Given the description of an element on the screen output the (x, y) to click on. 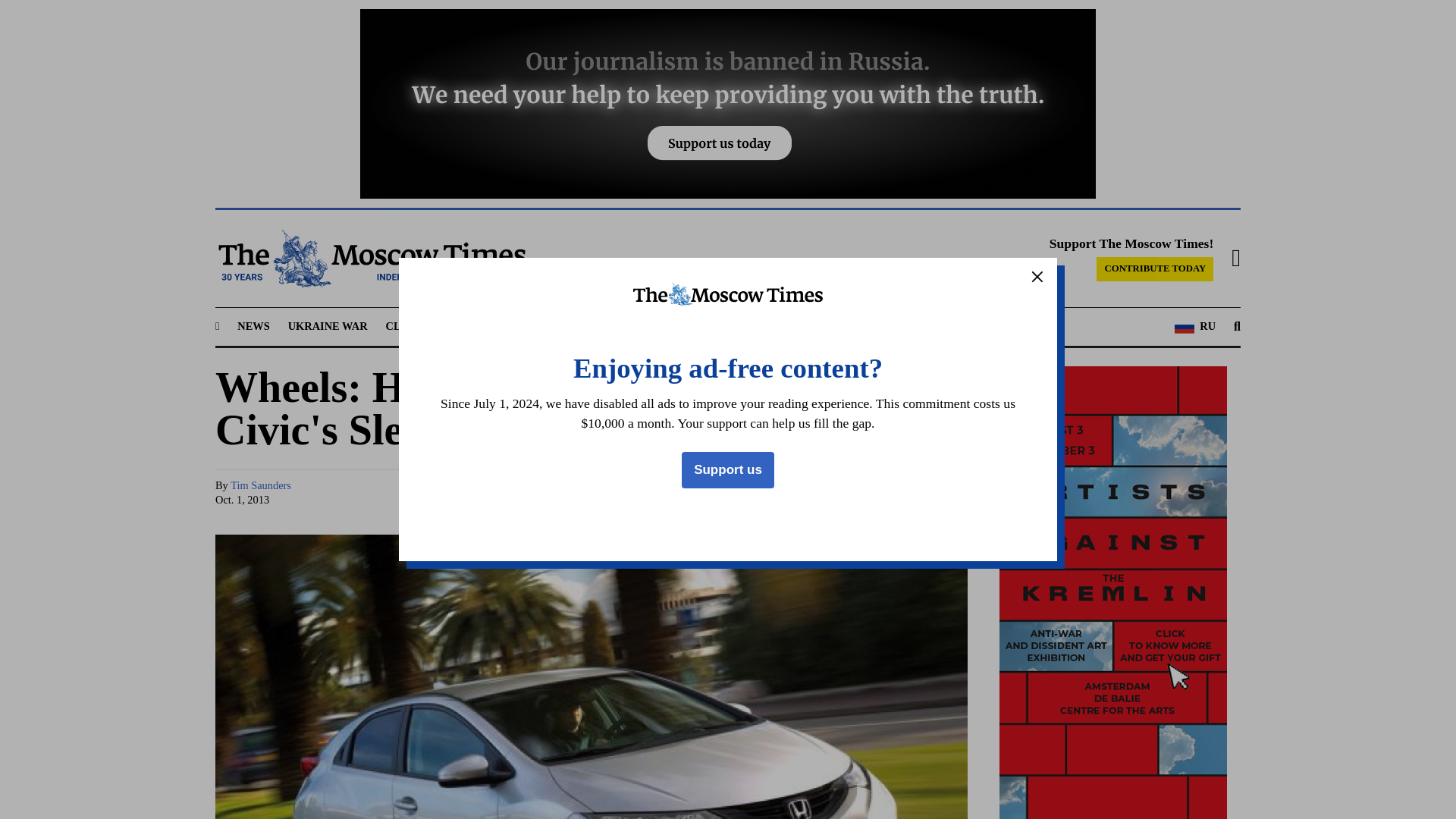
Share on Telegram (838, 492)
NEWS (253, 326)
CLIMATE (411, 326)
Share on Twitter (810, 492)
ARCHIVE (853, 326)
MEANWHILE (629, 326)
The Moscow Times - Independent News from Russia (370, 258)
UKRAINE WAR (328, 326)
CONTRIBUTE TODAY (1154, 269)
RU (1194, 326)
BUSINESS (550, 326)
OPINION (708, 326)
REGIONS (479, 326)
Share on Facebook (781, 492)
PODCASTS (780, 326)
